Given the description of an element on the screen output the (x, y) to click on. 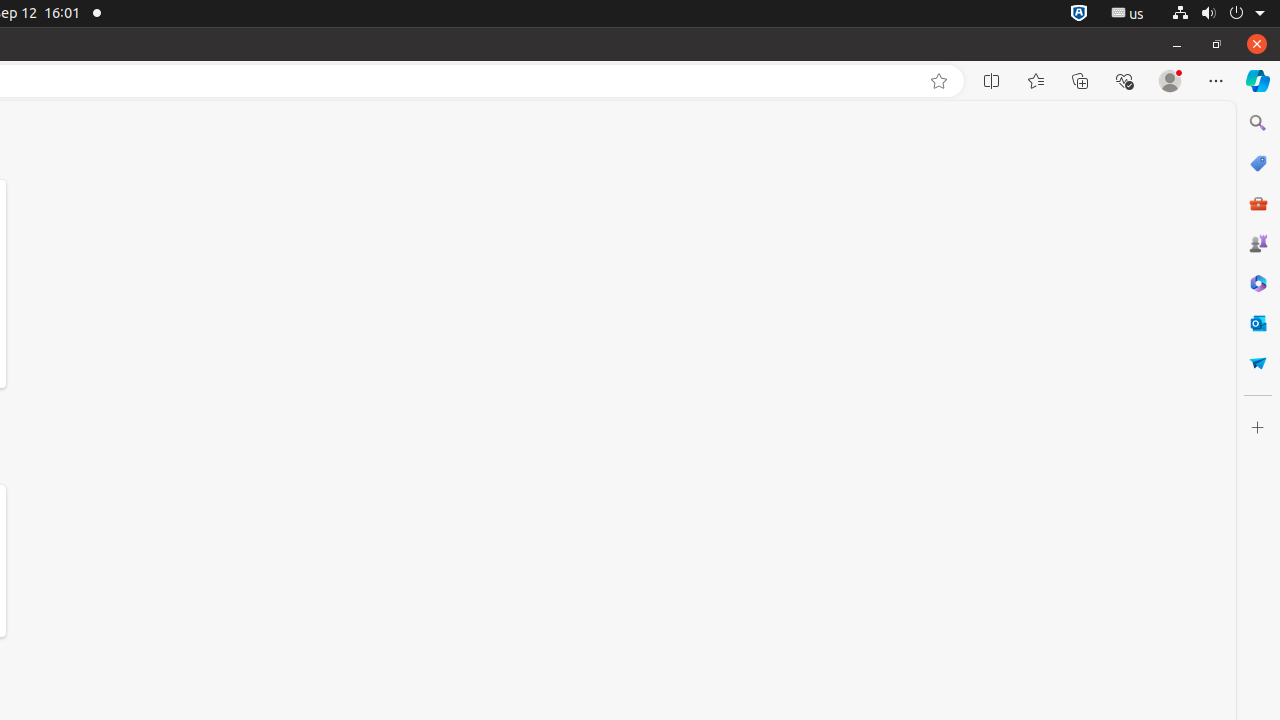
Microsoft Shopping Element type: push-button (1258, 163)
Tools Element type: push-button (1258, 202)
Copilot (Ctrl+Shift+.) Element type: push-button (1258, 81)
Split screen Element type: push-button (992, 81)
Collections Element type: push-button (1080, 81)
